Given the description of an element on the screen output the (x, y) to click on. 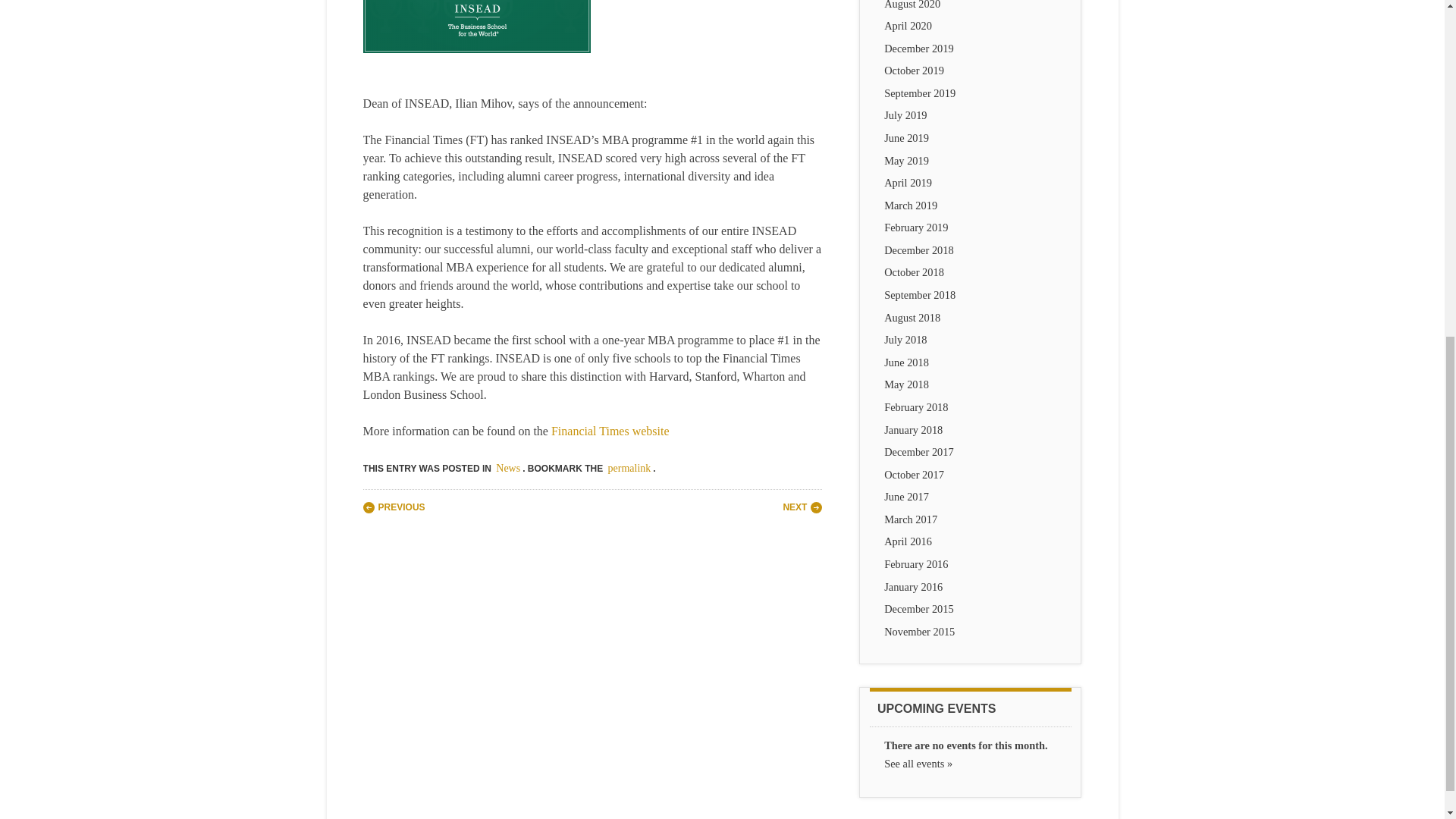
Financial Times website (610, 431)
October 2019 (913, 70)
May 2019 (905, 160)
News (507, 468)
December 2019 (918, 48)
PREVIOUS (393, 507)
April 2020 (907, 25)
NEXT (802, 507)
July 2019 (904, 114)
See all events (917, 763)
April 2019 (907, 182)
June 2019 (905, 137)
September 2019 (919, 92)
August 2020 (911, 4)
March 2019 (910, 205)
